Given the description of an element on the screen output the (x, y) to click on. 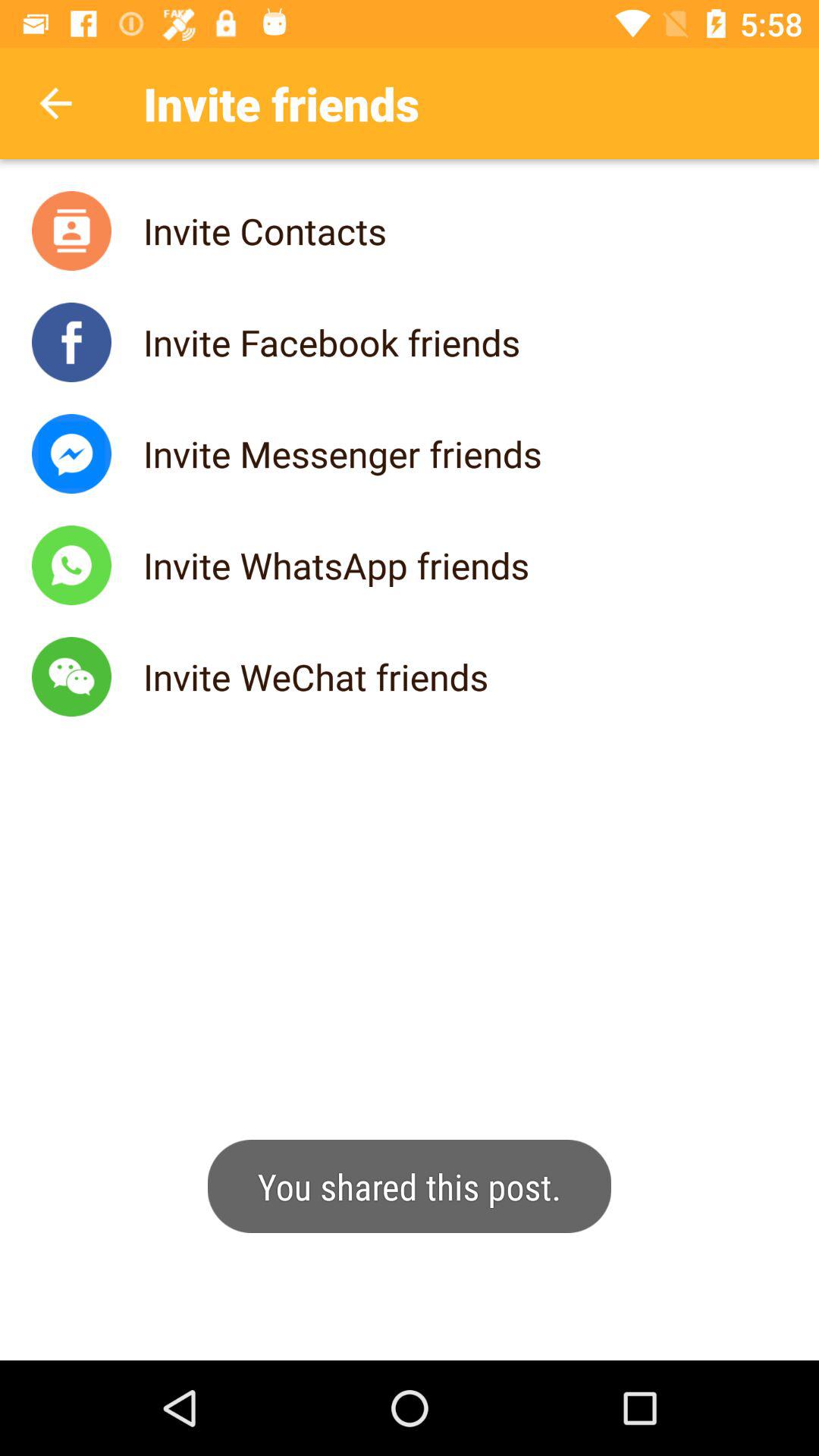
backword the option (55, 103)
